Given the description of an element on the screen output the (x, y) to click on. 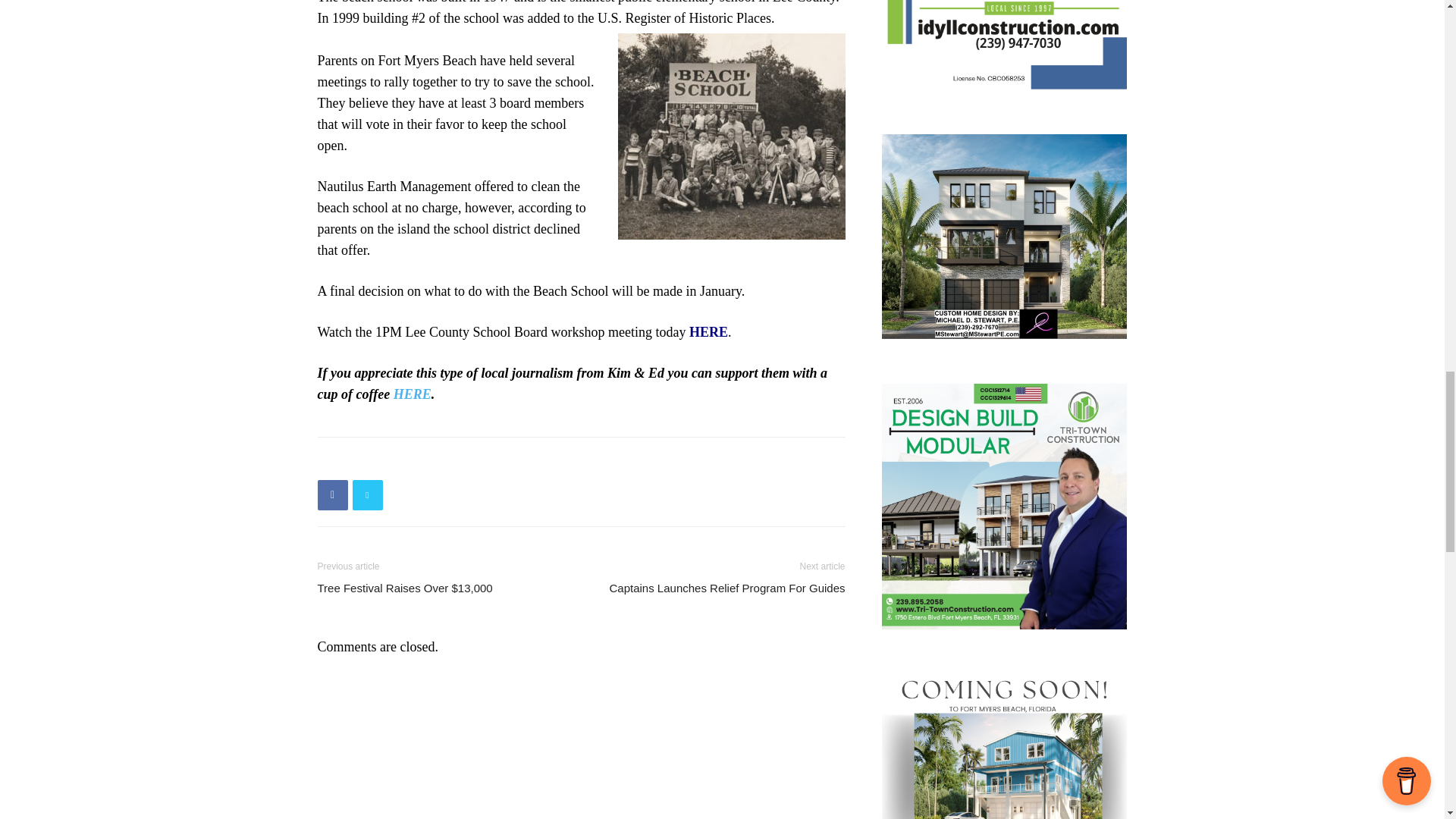
Captains Launches Relief Program For Guides (727, 587)
Twitter (366, 494)
HERE (411, 394)
Facebook (332, 494)
HERE (708, 331)
